Given the description of an element on the screen output the (x, y) to click on. 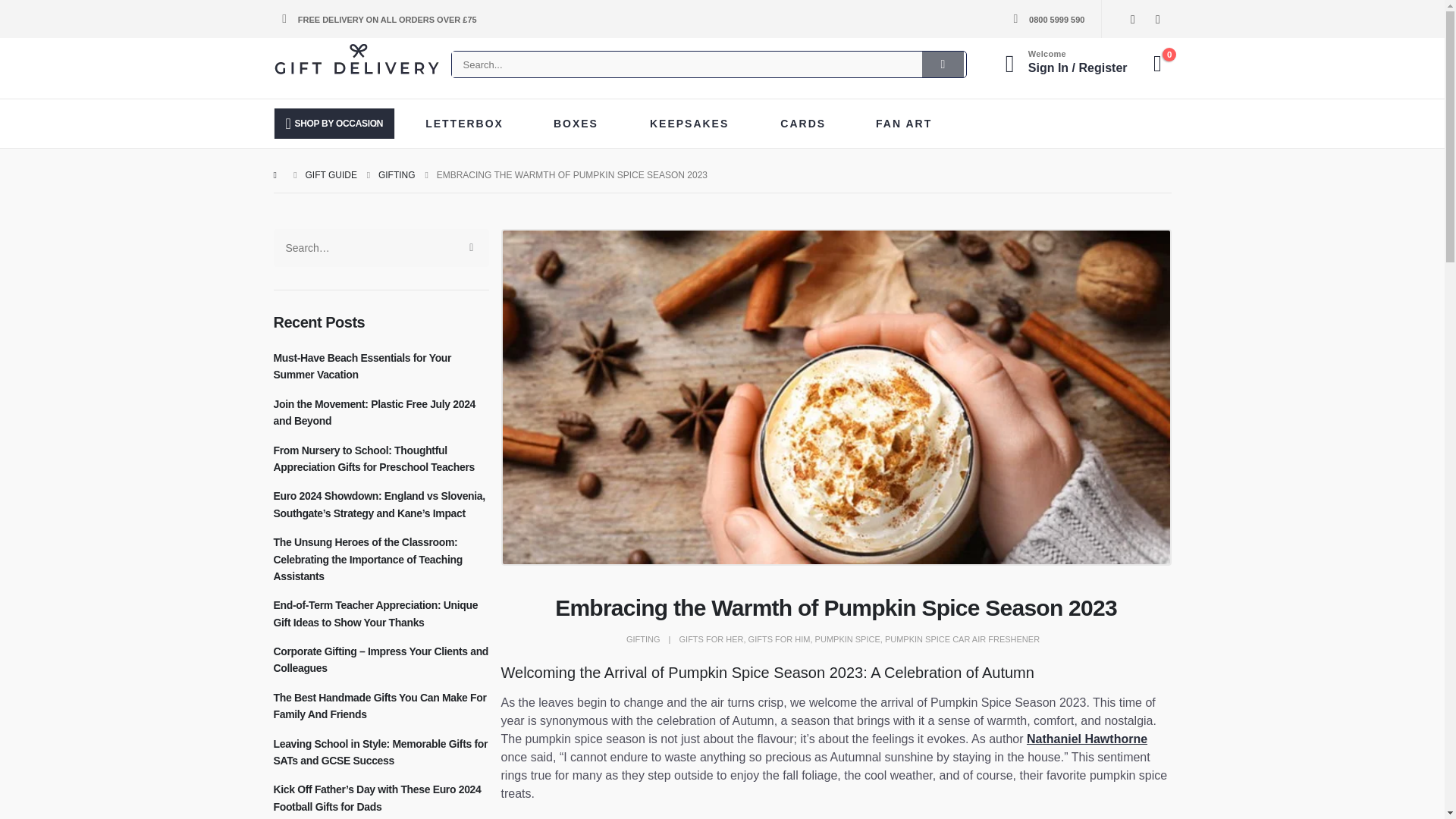
CARDS (808, 123)
Gift Delivery UK - Send the perfect gift online today (356, 60)
Instagram (1157, 18)
Search (942, 63)
BOXES (580, 123)
Facebook (1131, 18)
LETTERBOX (469, 123)
KEEPSAKES (694, 123)
